Given the description of an element on the screen output the (x, y) to click on. 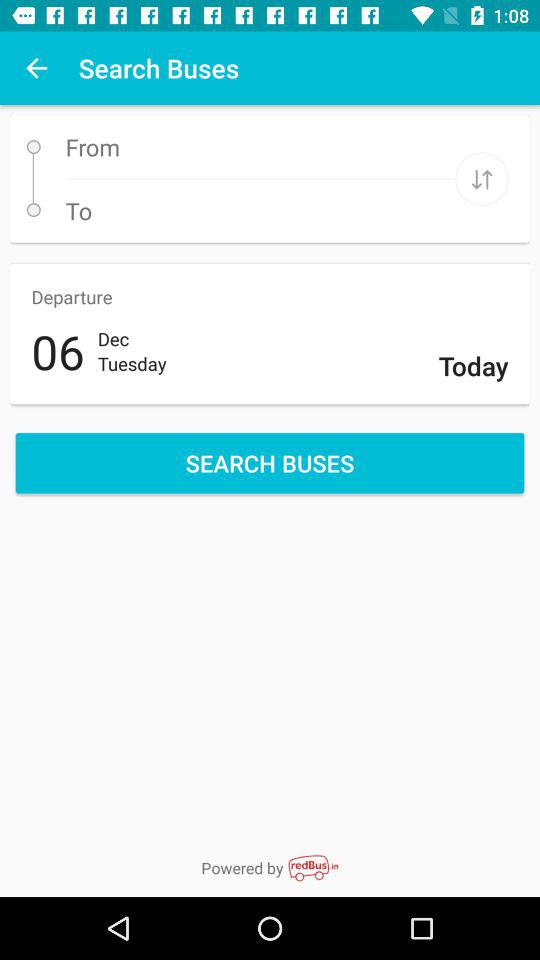
press item at the top right corner (481, 178)
